Given the description of an element on the screen output the (x, y) to click on. 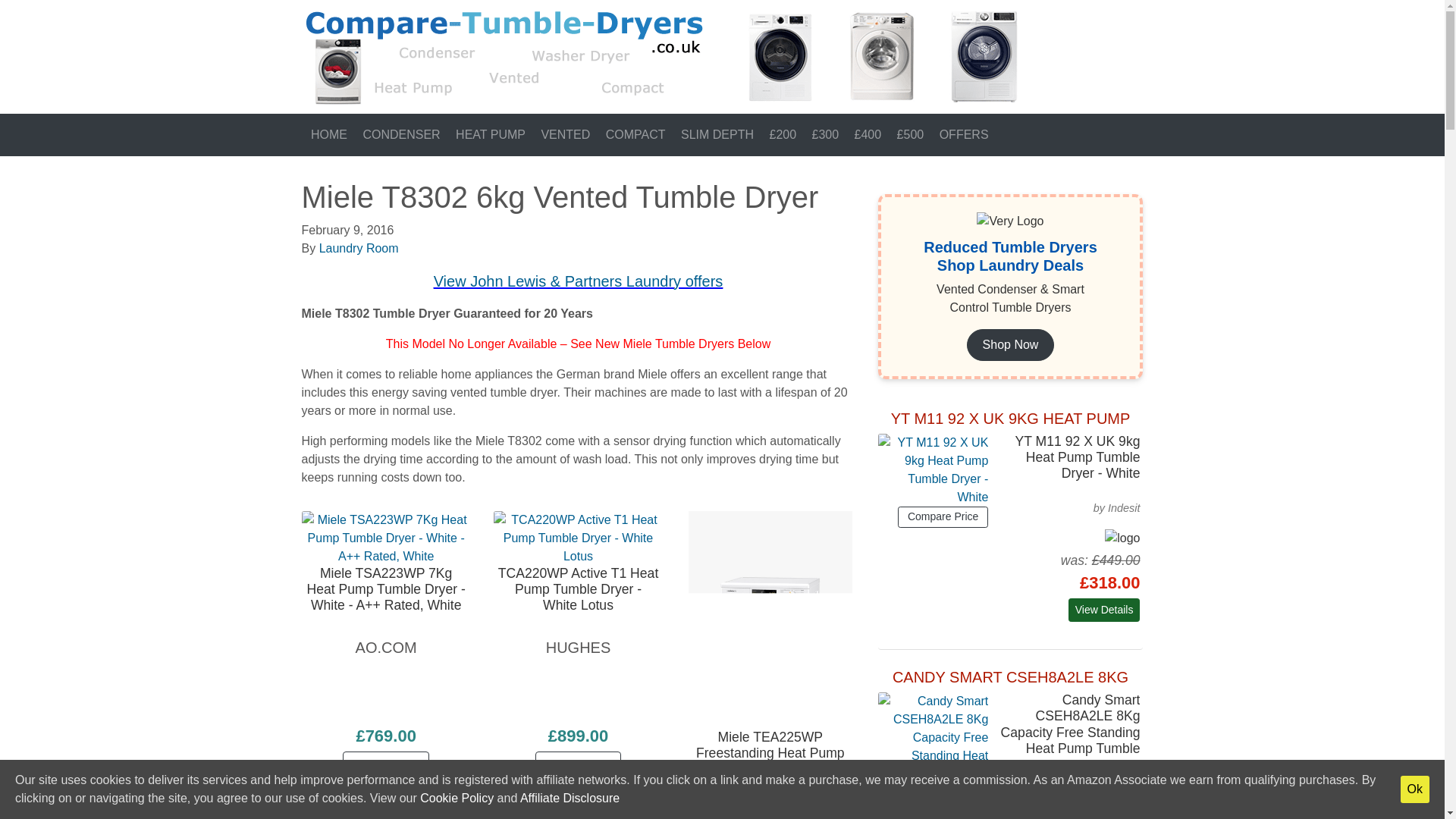
HOME (327, 134)
CONDENSER (399, 134)
OFFERS (962, 134)
Laundry Room (358, 247)
 VENTED (563, 134)
VENTED (563, 134)
View Details (385, 765)
TCA220WP Active T1 Heat Pump Tumble Dryer - White Lotus (578, 765)
 HEAT PUMP (488, 134)
 COMPACT (633, 134)
